Given the description of an element on the screen output the (x, y) to click on. 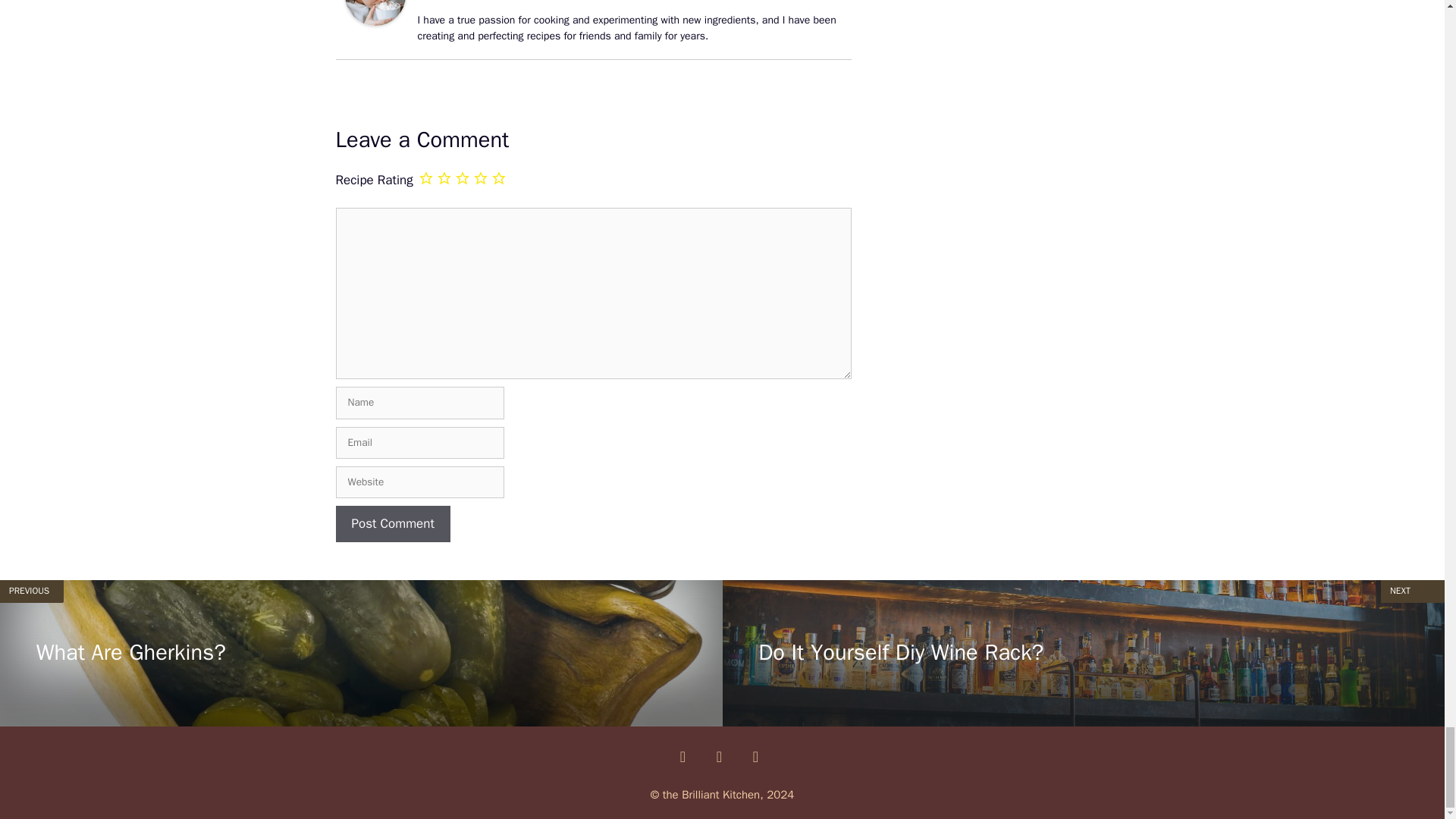
Post Comment (391, 524)
